Given the description of an element on the screen output the (x, y) to click on. 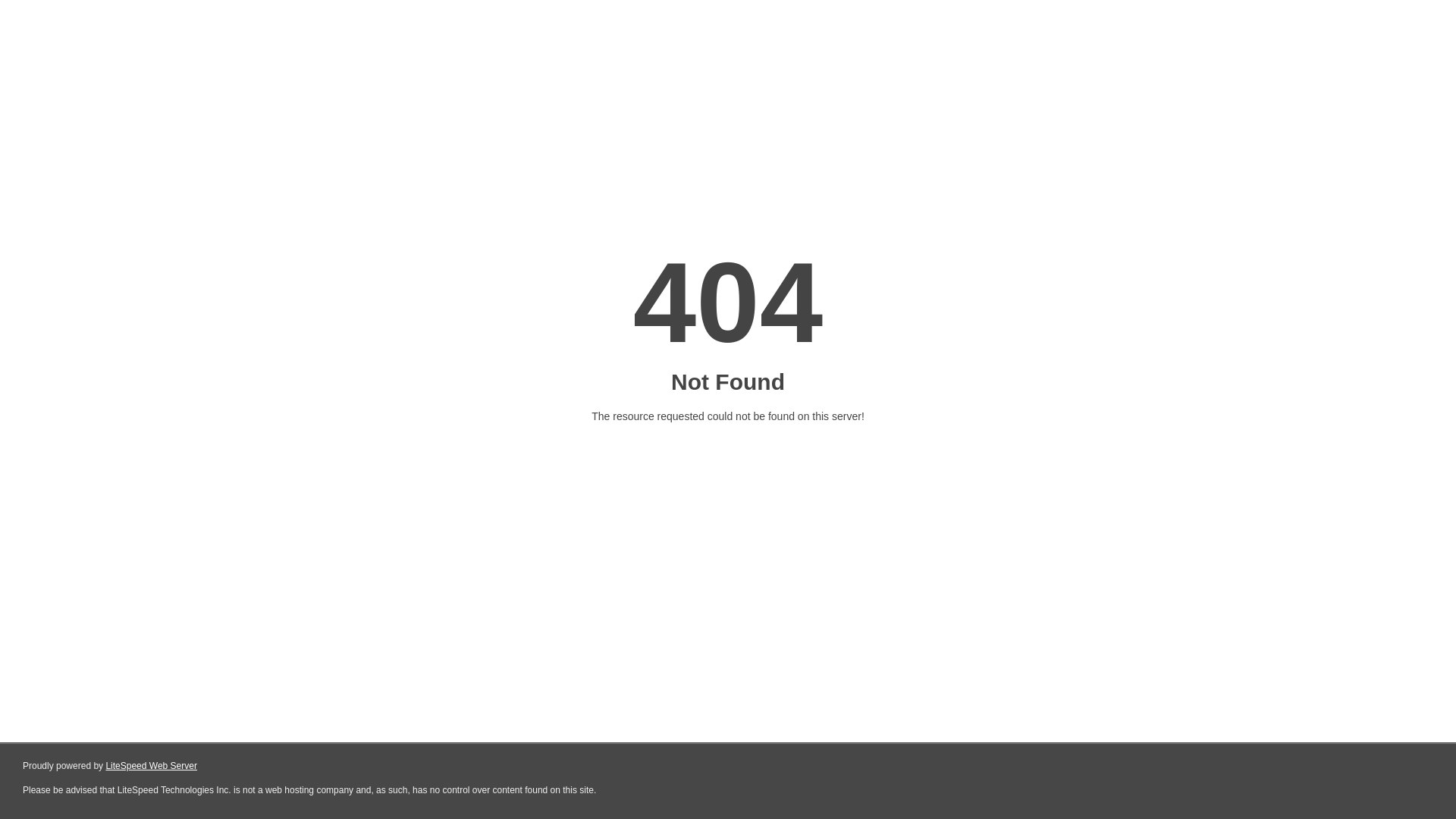
LiteSpeed Web Server (150, 765)
